Given the description of an element on the screen output the (x, y) to click on. 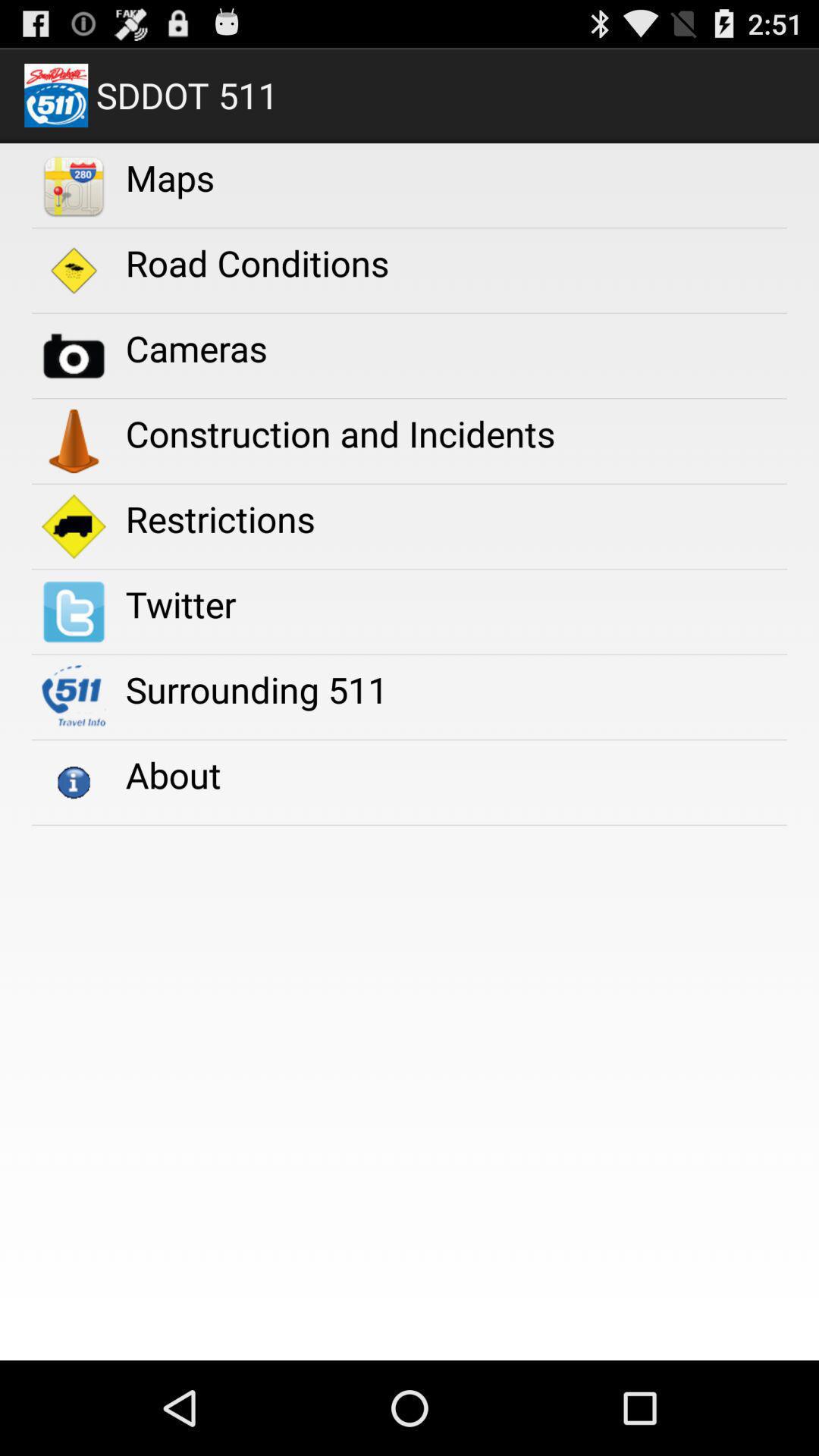
tap surrounding 511 icon (256, 689)
